Given the description of an element on the screen output the (x, y) to click on. 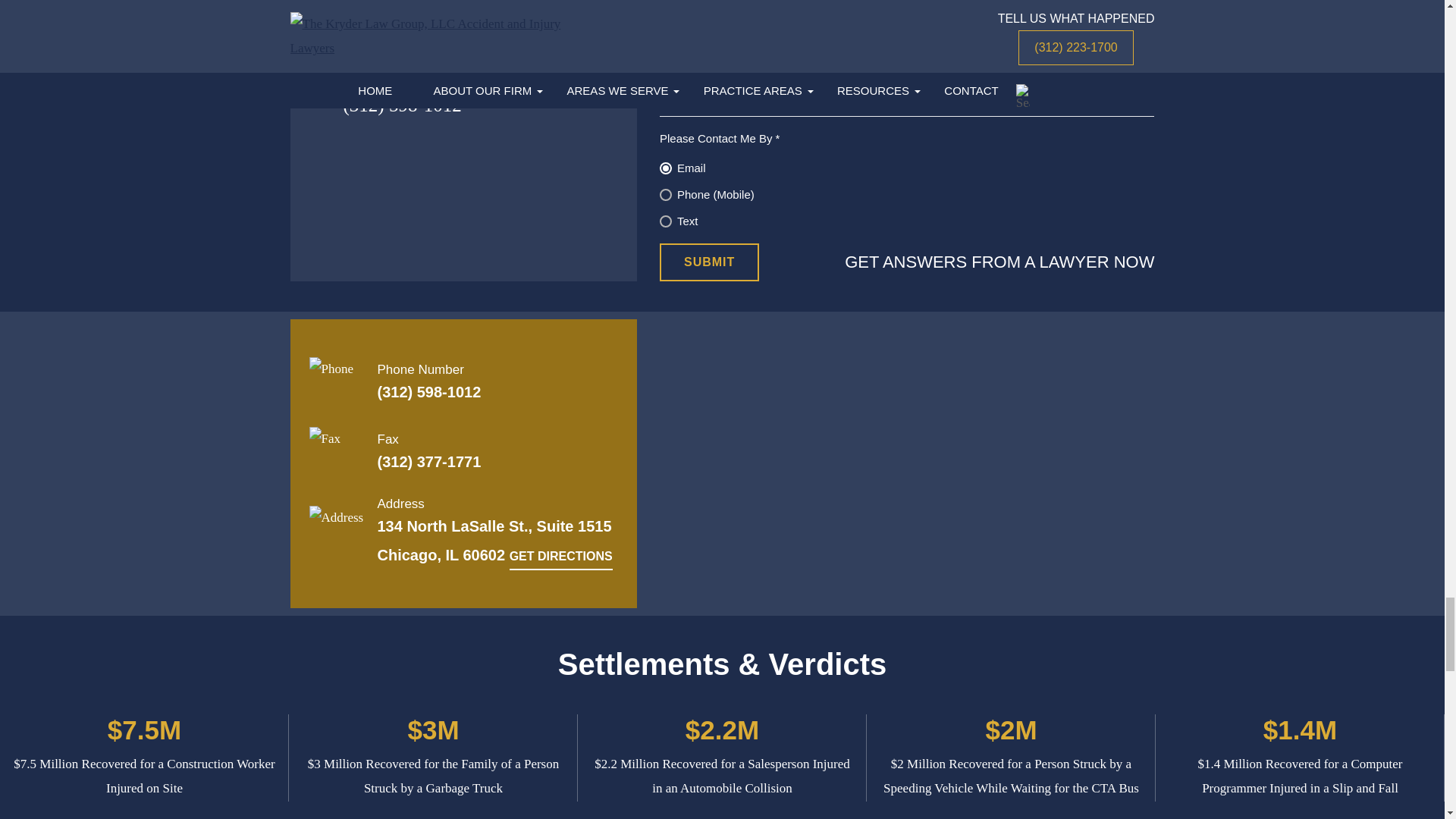
Submit (708, 262)
